Given the description of an element on the screen output the (x, y) to click on. 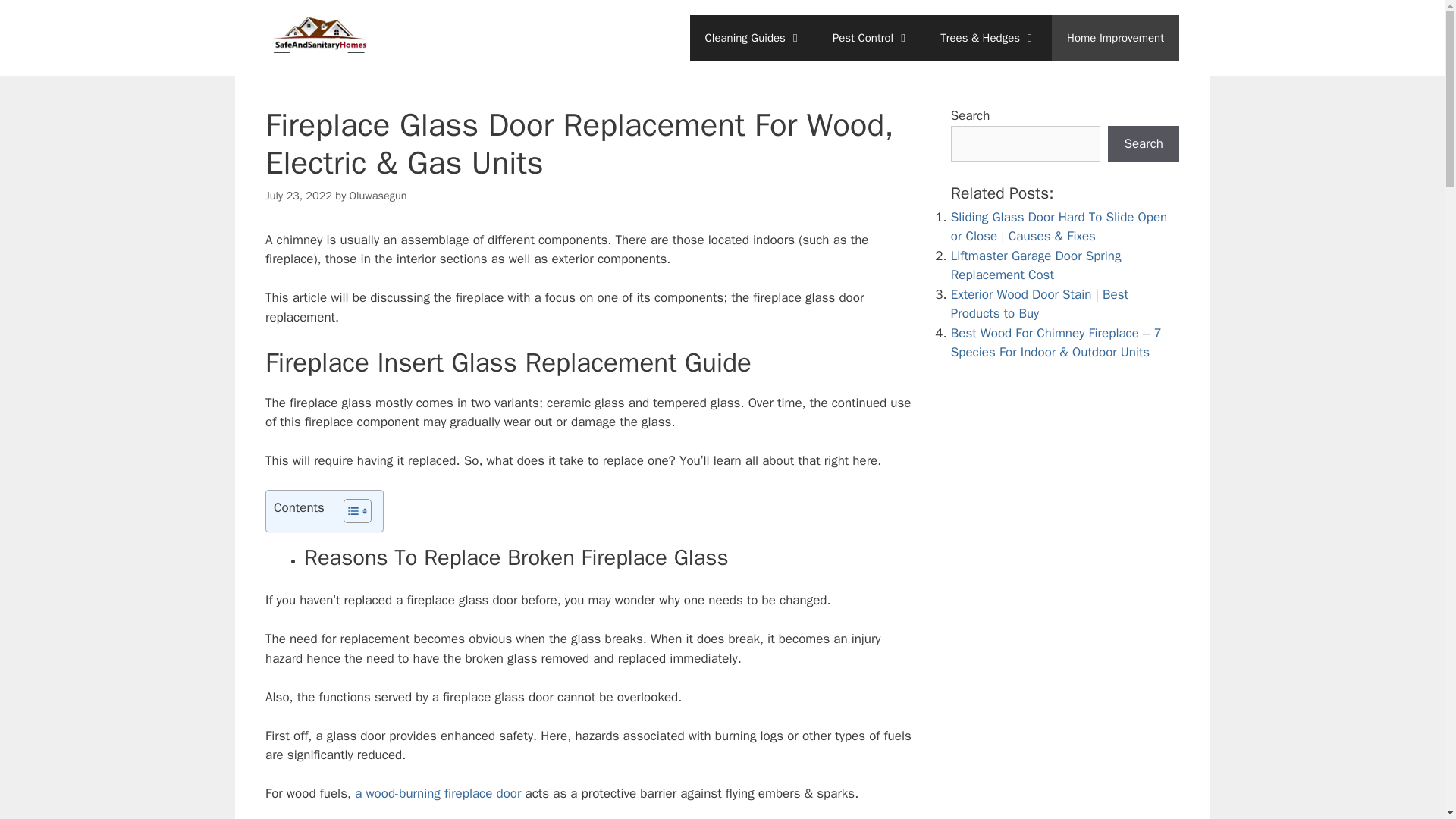
Pest Control (870, 37)
Cleaning Guides (753, 37)
View all posts by Oluwasegun (378, 195)
Oluwasegun (378, 195)
a wood-burning fireplace door (438, 793)
Liftmaster Garage Door Spring Replacement Cost (1035, 264)
Home Improvement (1115, 37)
